Given the description of an element on the screen output the (x, y) to click on. 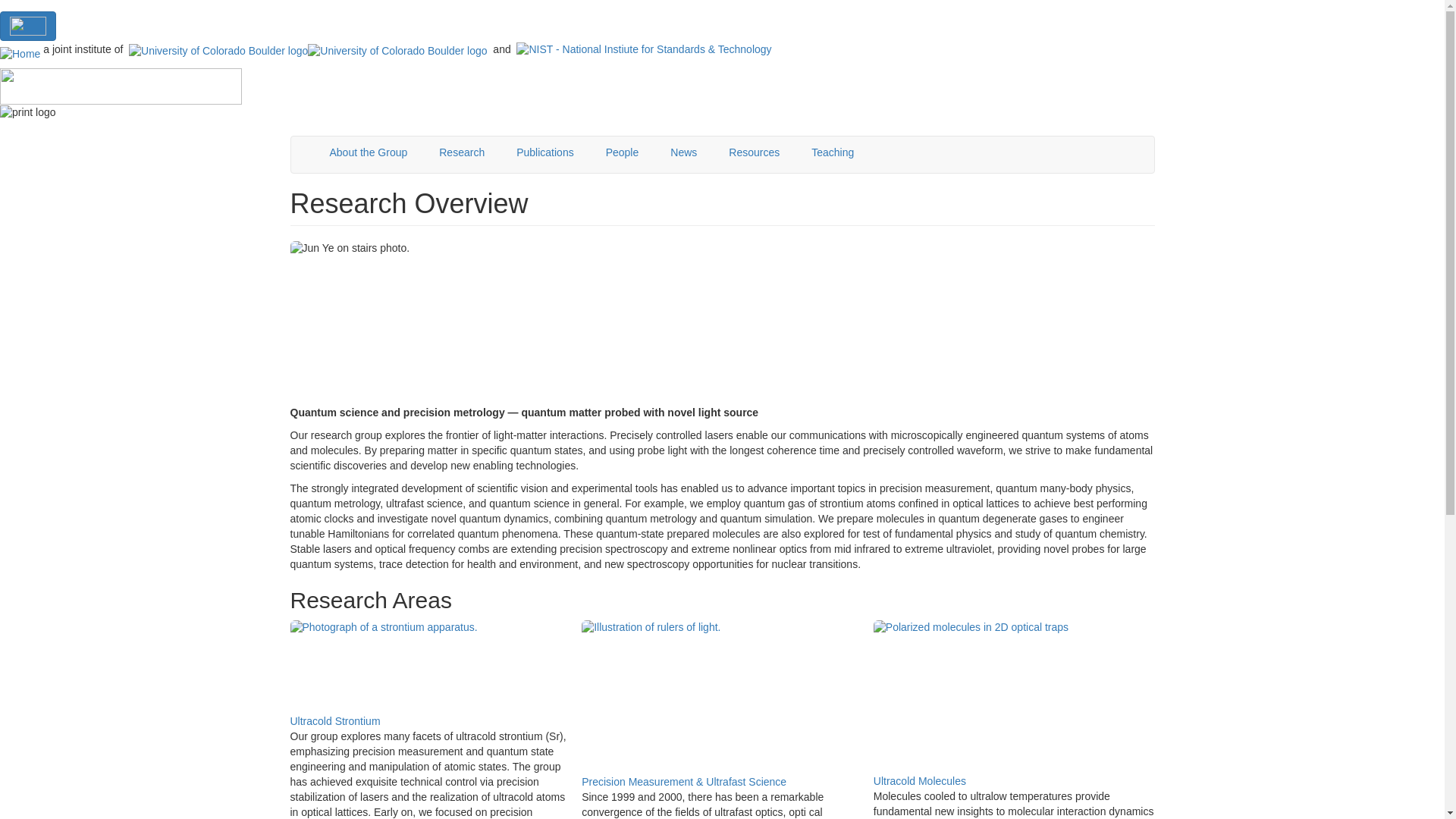
Home (20, 54)
Teaching (831, 152)
Publications (544, 152)
People (622, 152)
Resources (753, 152)
News (683, 152)
About the Group (368, 152)
Research (461, 152)
